Given the description of an element on the screen output the (x, y) to click on. 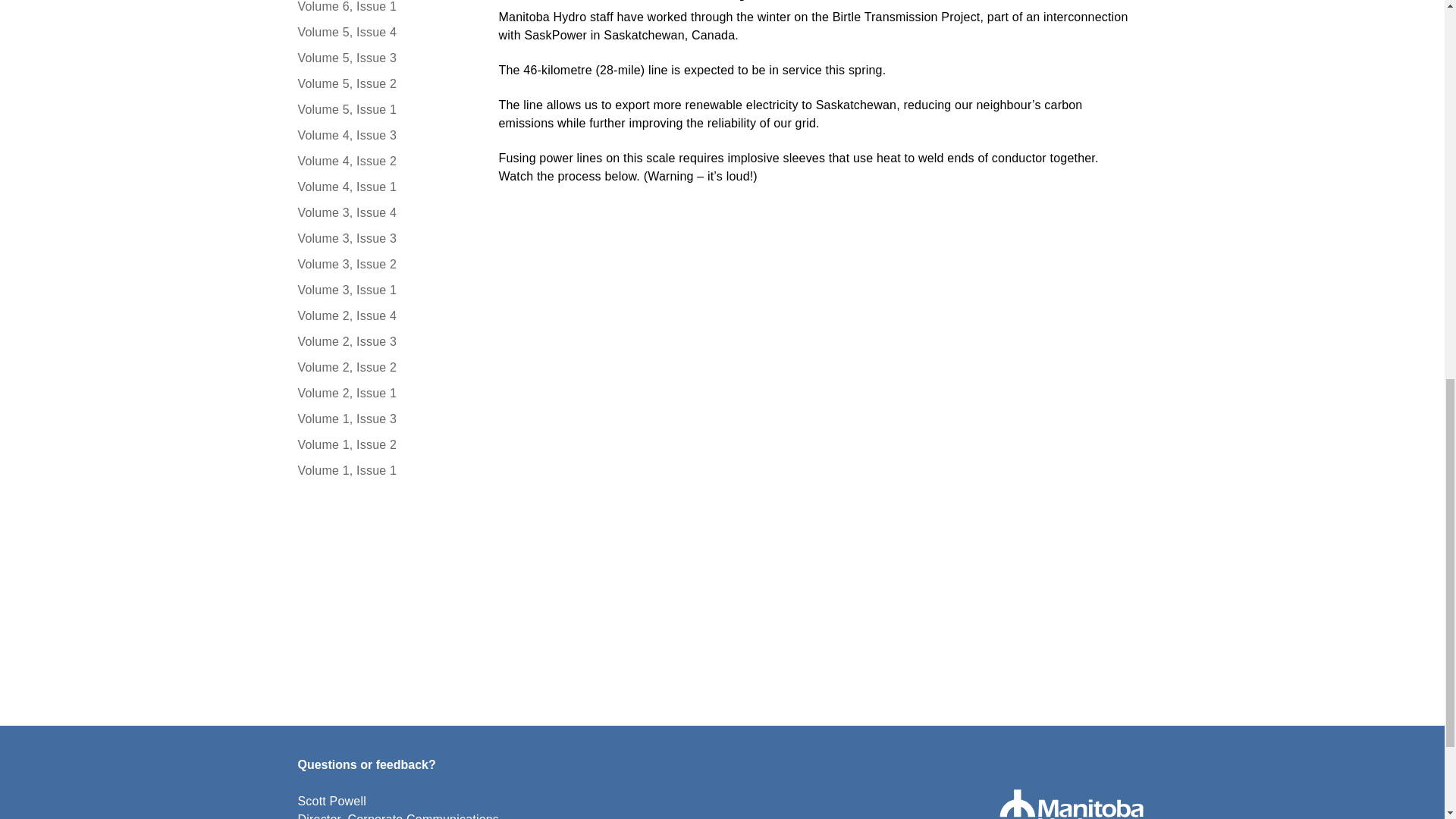
Volume 1, Issue 2 (382, 444)
Volume 4, Issue 1 (382, 187)
Volume 3, Issue 4 (382, 212)
Volume 3, Issue 3 (382, 239)
Volume 4, Issue 3 (382, 135)
Volume 5, Issue 1 (382, 109)
Volume 5, Issue 3 (382, 58)
Volume 3, Issue 2 (382, 264)
Volume 6, Issue 1 (382, 7)
Volume 2, Issue 3 (382, 341)
Volume 2, Issue 1 (382, 393)
Volume 4, Issue 2 (382, 161)
Volume 2, Issue 4 (382, 316)
Volume 2, Issue 2 (382, 367)
Volume 1, Issue 1 (382, 470)
